Given the description of an element on the screen output the (x, y) to click on. 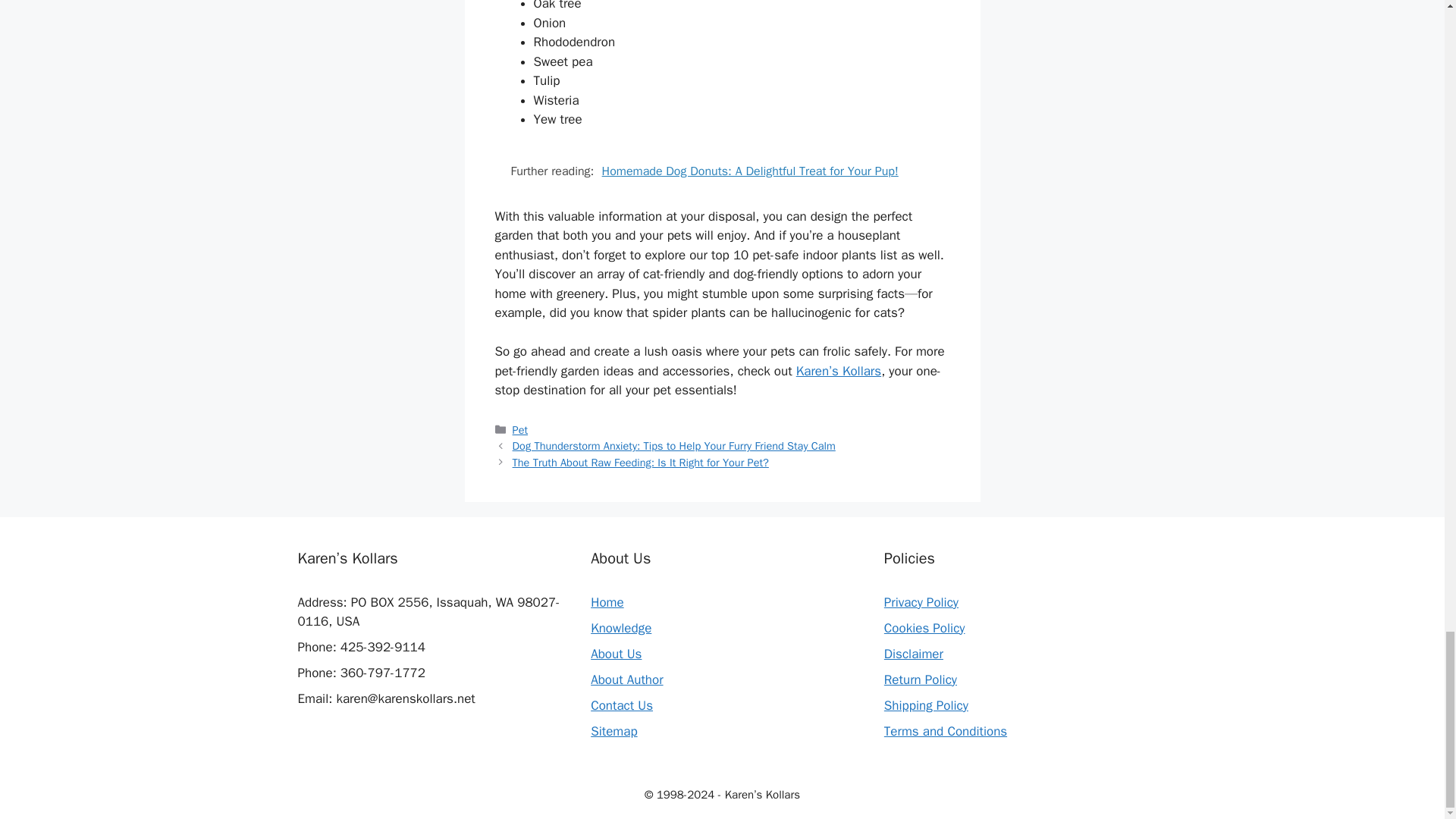
Return Policy (919, 679)
Cookies Policy (924, 627)
About Us (616, 653)
Home (607, 602)
Contact Us (621, 705)
The Truth About Raw Feeding: Is It Right for Your Pet? (640, 462)
About Author (626, 679)
Knowledge (620, 627)
Sitemap (614, 731)
Pet (519, 429)
Disclaimer (913, 653)
Privacy Policy (920, 602)
